Given the description of an element on the screen output the (x, y) to click on. 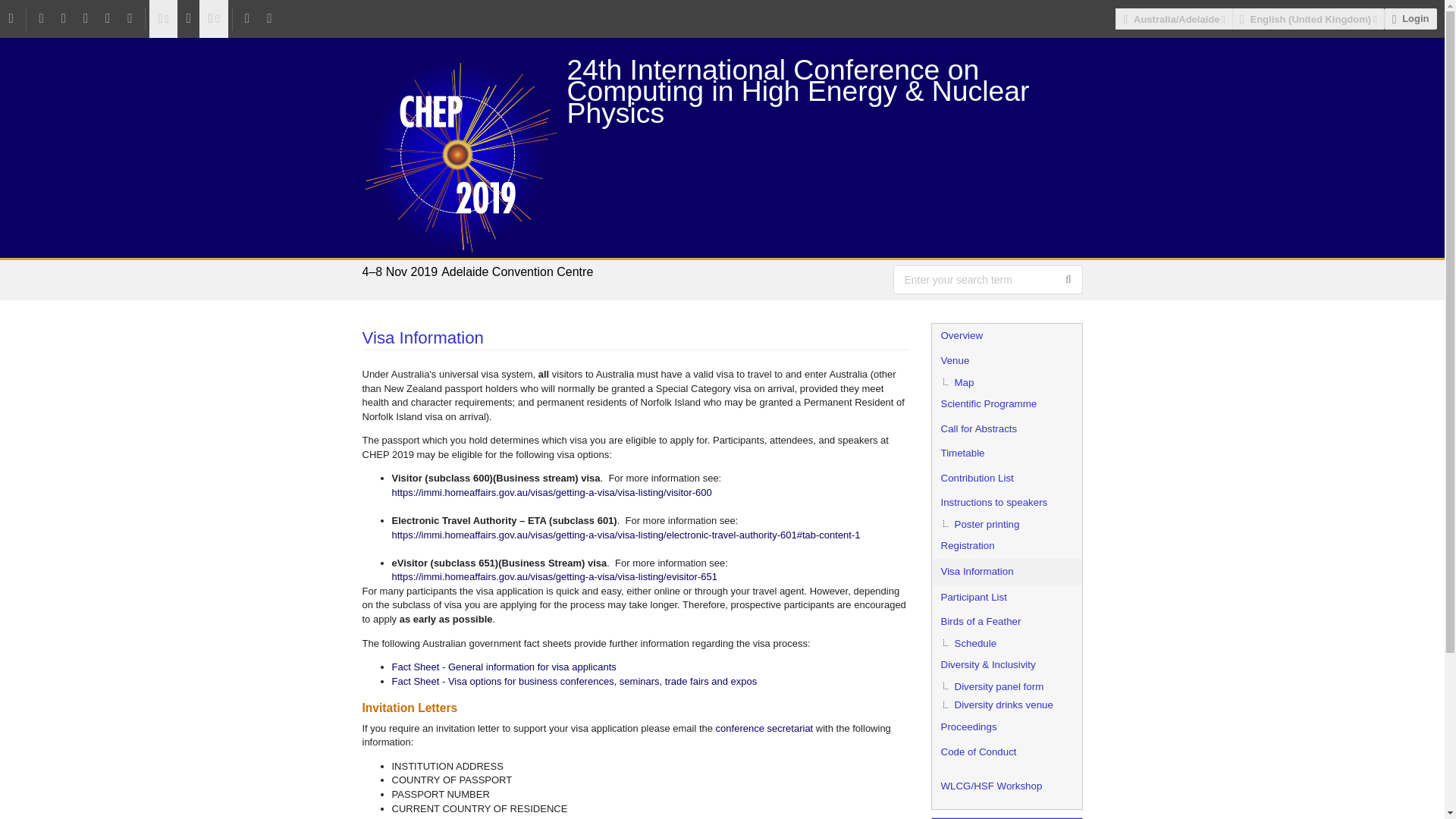
Map (1006, 382)
Venue (1006, 360)
Login (1410, 19)
Overview (1006, 335)
